Given the description of an element on the screen output the (x, y) to click on. 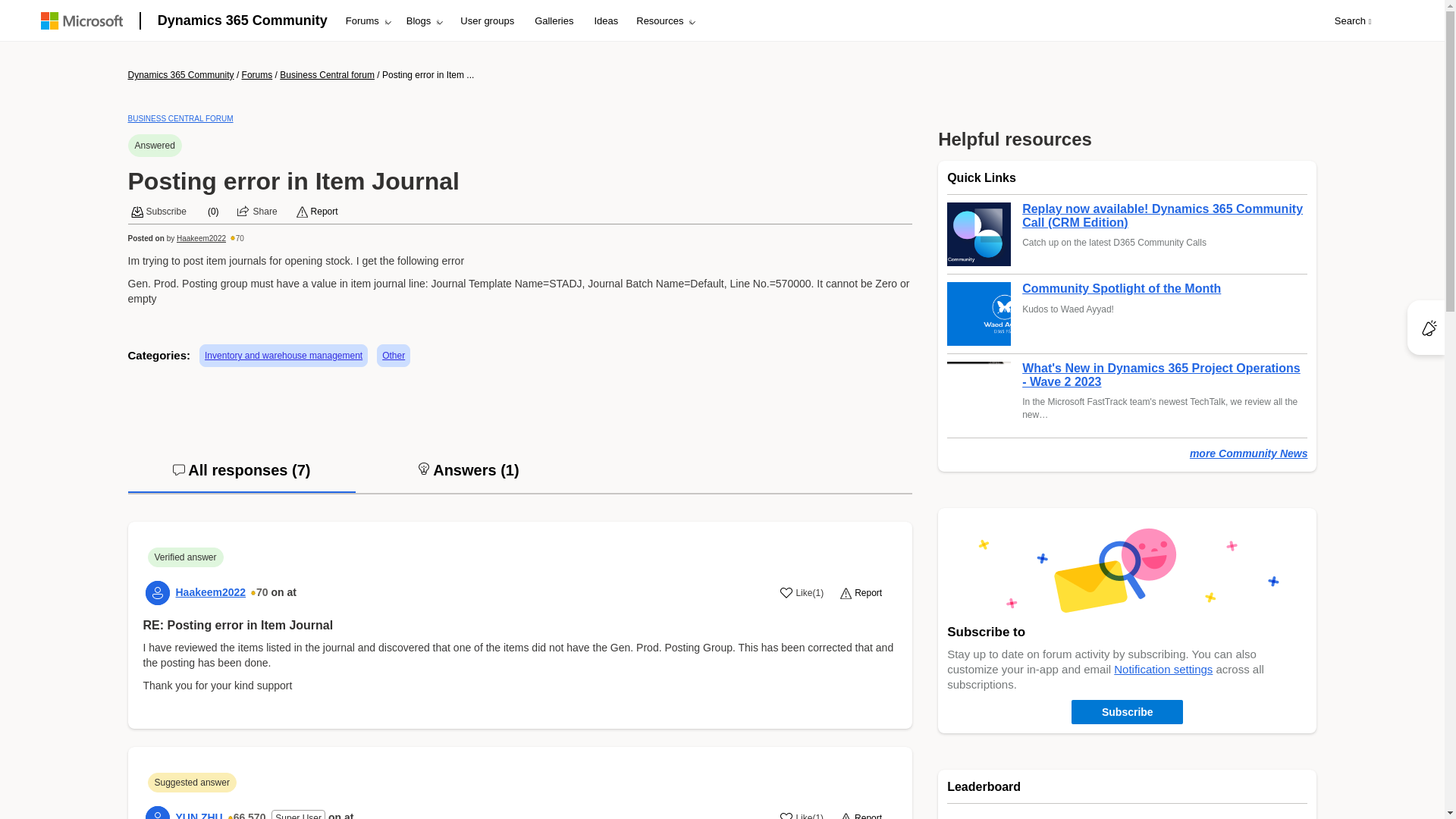
Blogs (423, 20)
Haakeem2022 (211, 592)
Search (1352, 21)
YUN ZHU (157, 812)
YUN ZHU (199, 815)
Haakeem2022 (200, 238)
Haakeem2022 (157, 592)
Dynamics 365 Community (242, 20)
Forums (366, 20)
